Given the description of an element on the screen output the (x, y) to click on. 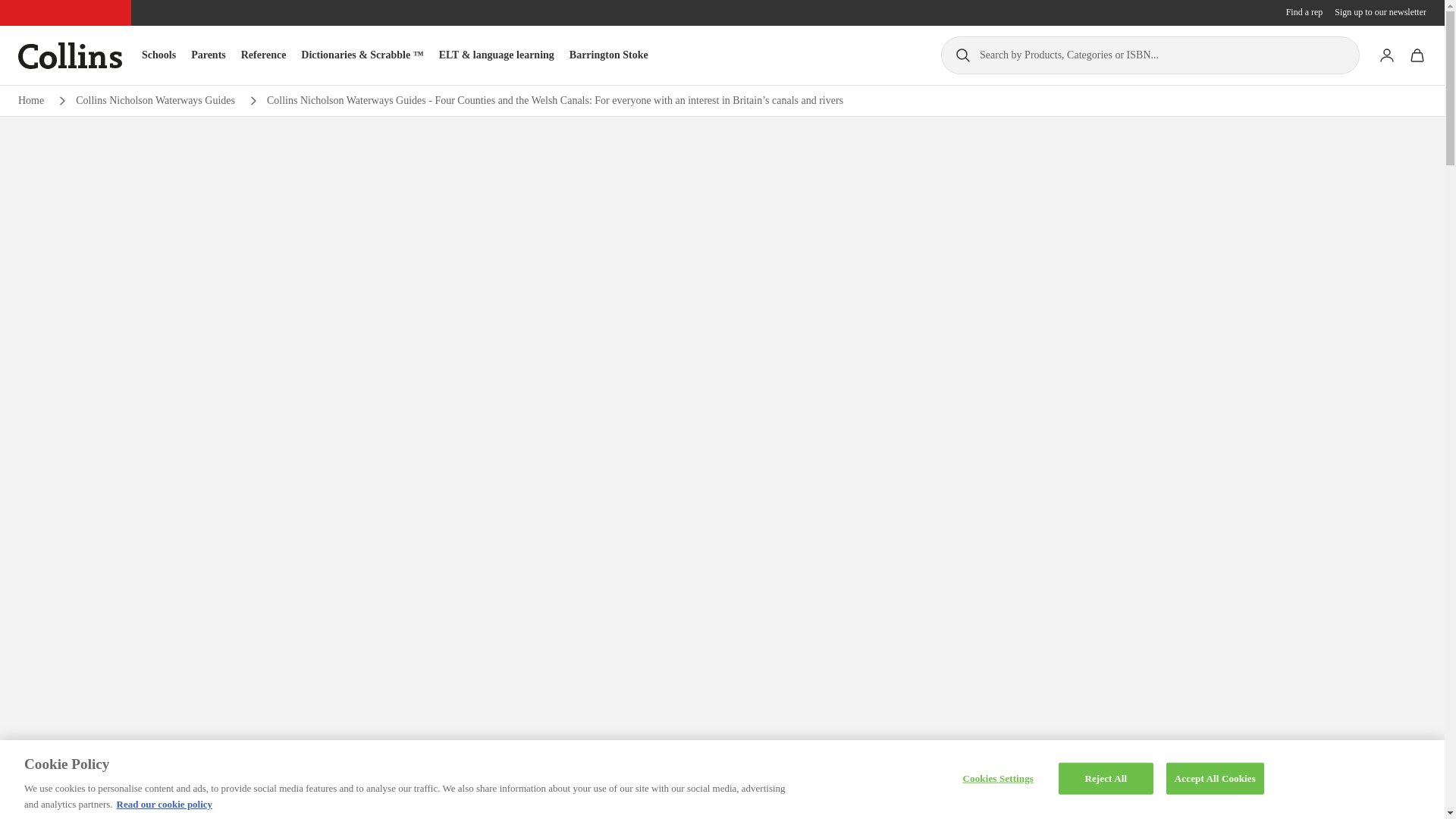
Find a rep (1304, 11)
Collins (69, 55)
Collins Nicholson Waterways Guides (154, 100)
Toggle cart (1417, 55)
Read all about Collins Nicholson Waterways Guides (154, 100)
Barrington Stoke (608, 55)
Home (30, 100)
Schools (158, 55)
